Given the description of an element on the screen output the (x, y) to click on. 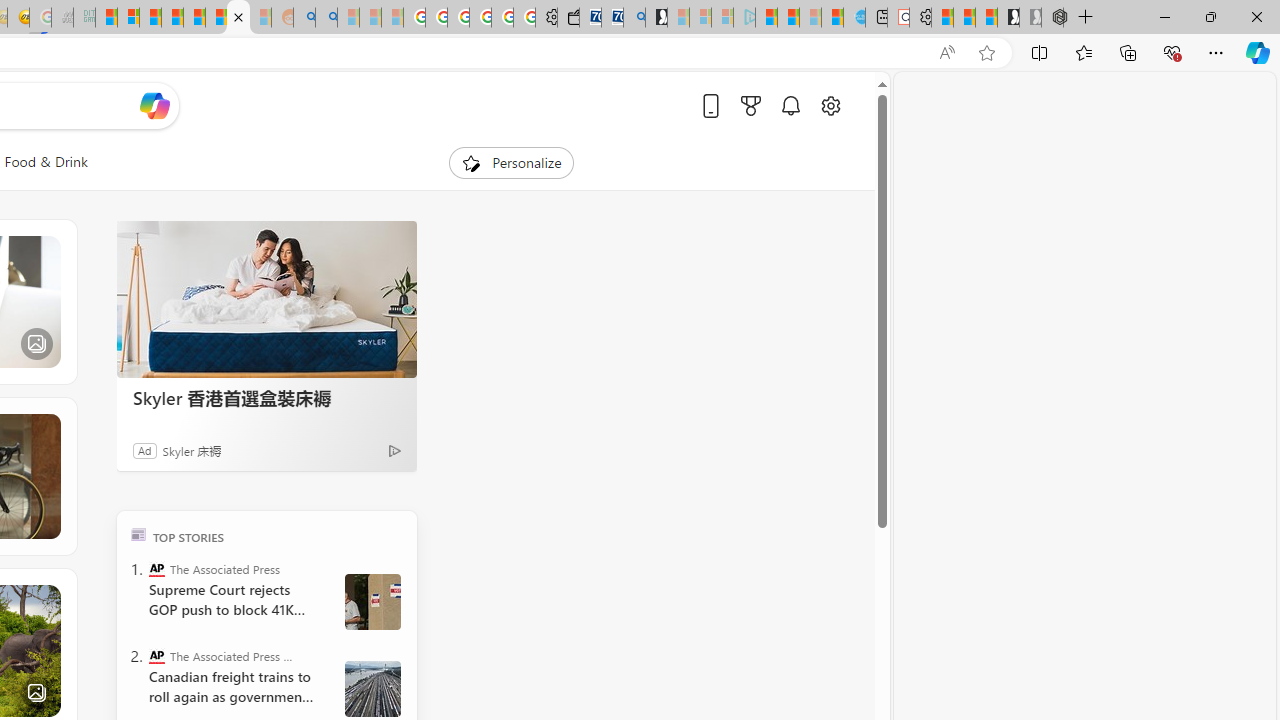
Open Copilot (155, 105)
Microsoft Start - Sleeping (810, 17)
Navy Quest (62, 17)
Ad (145, 450)
Home | Sky Blue Bikes - Sky Blue Bikes (854, 17)
